Given the description of an element on the screen output the (x, y) to click on. 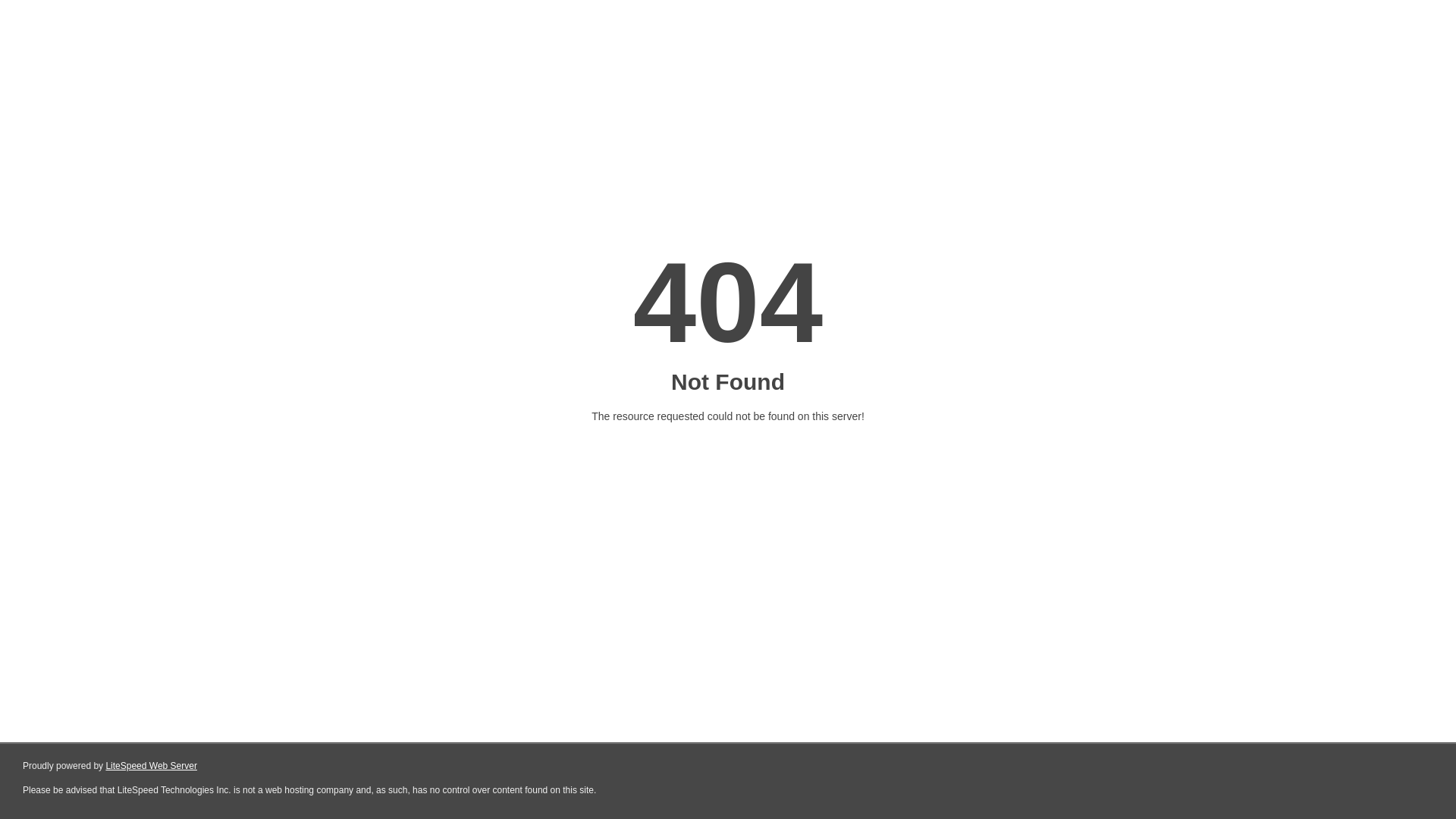
LiteSpeed Web Server Element type: text (151, 765)
